Given the description of an element on the screen output the (x, y) to click on. 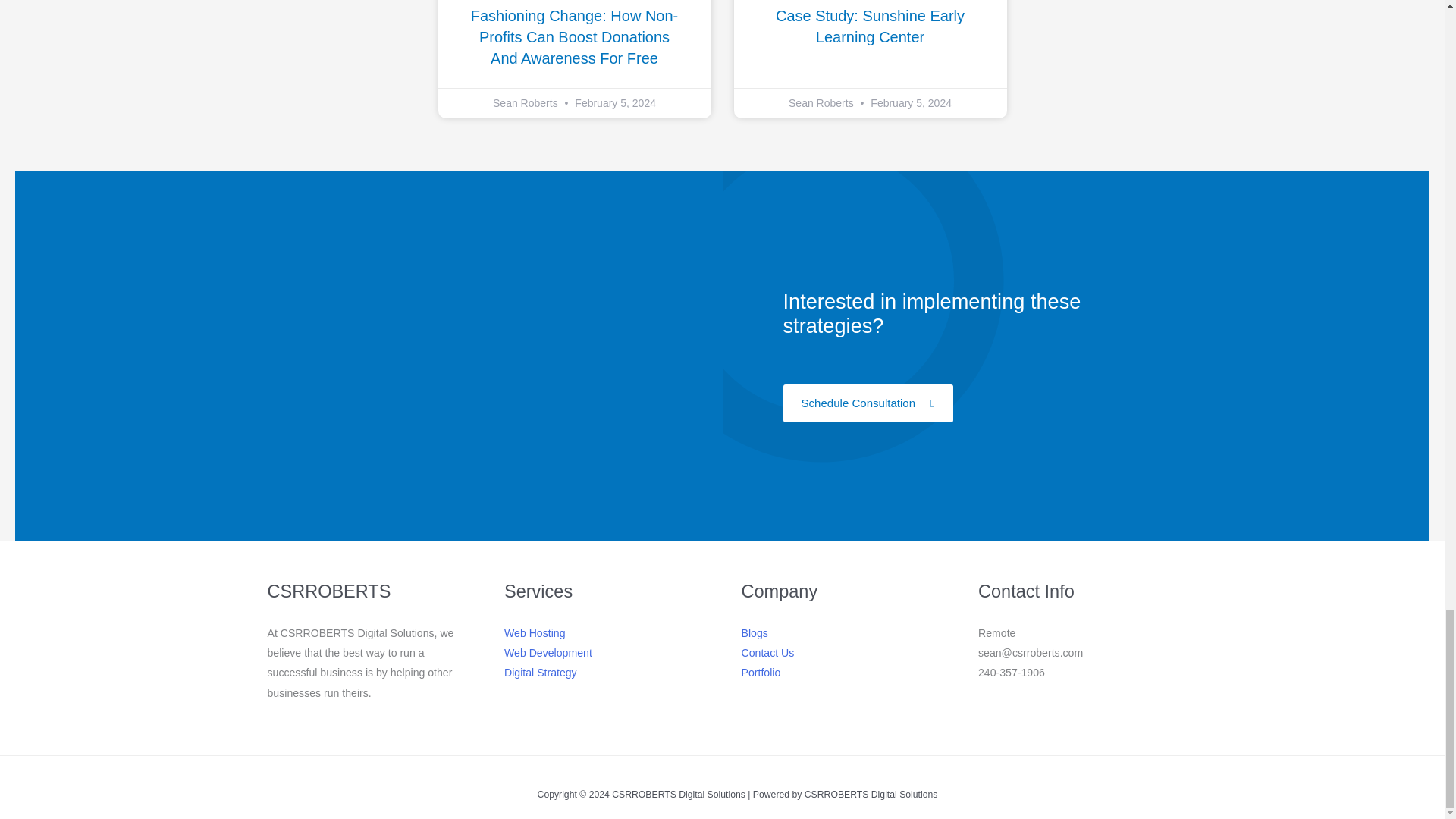
Blogs (754, 633)
Web Hosting (534, 633)
Schedule Consultation (867, 403)
Contact Us (767, 653)
Digital Strategy (539, 672)
Case Study: Sunshine Early Learning Center (869, 26)
Portfolio (760, 672)
Web Development (547, 653)
